Given the description of an element on the screen output the (x, y) to click on. 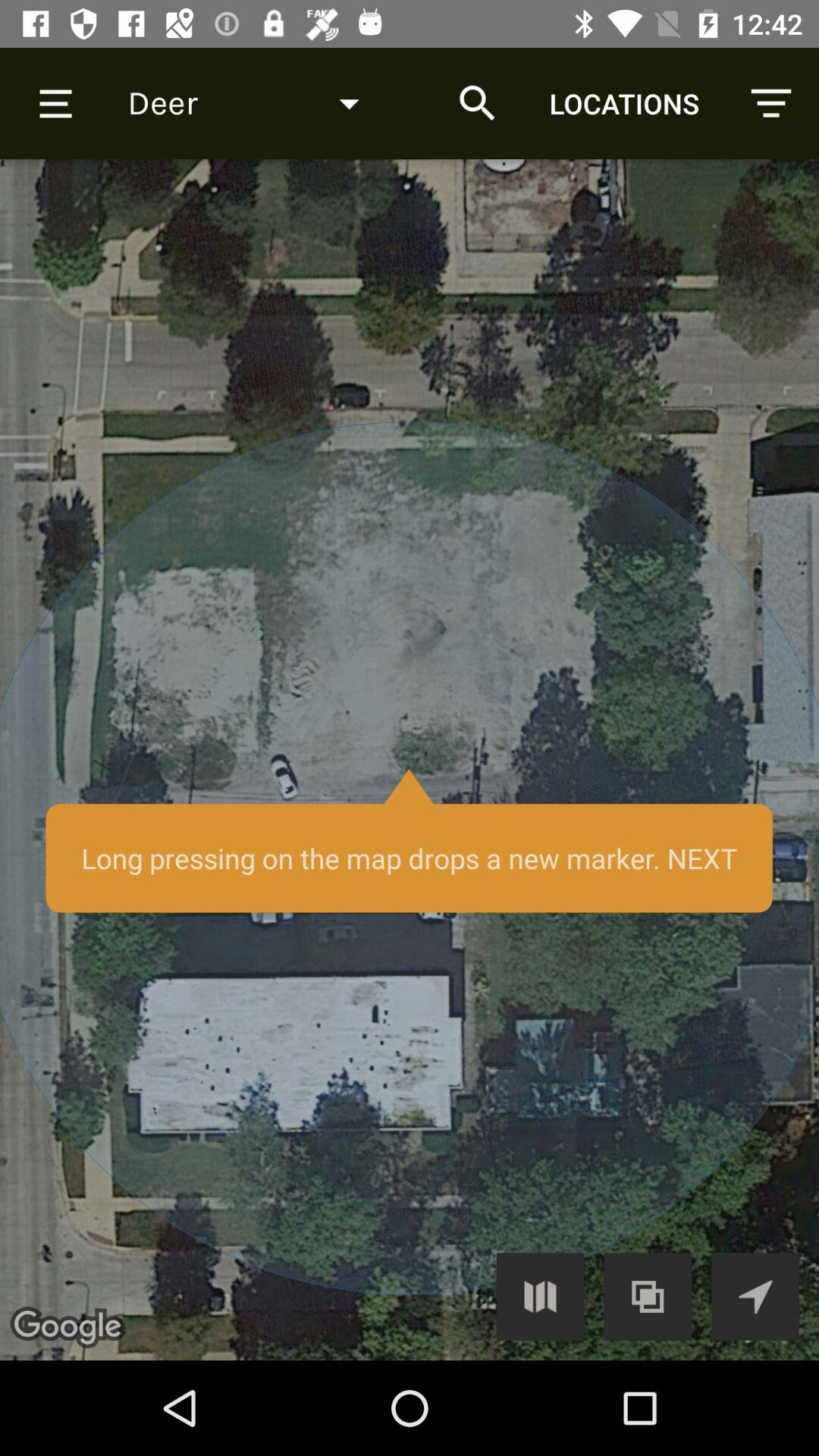
find my lacation (755, 1296)
